Given the description of an element on the screen output the (x, y) to click on. 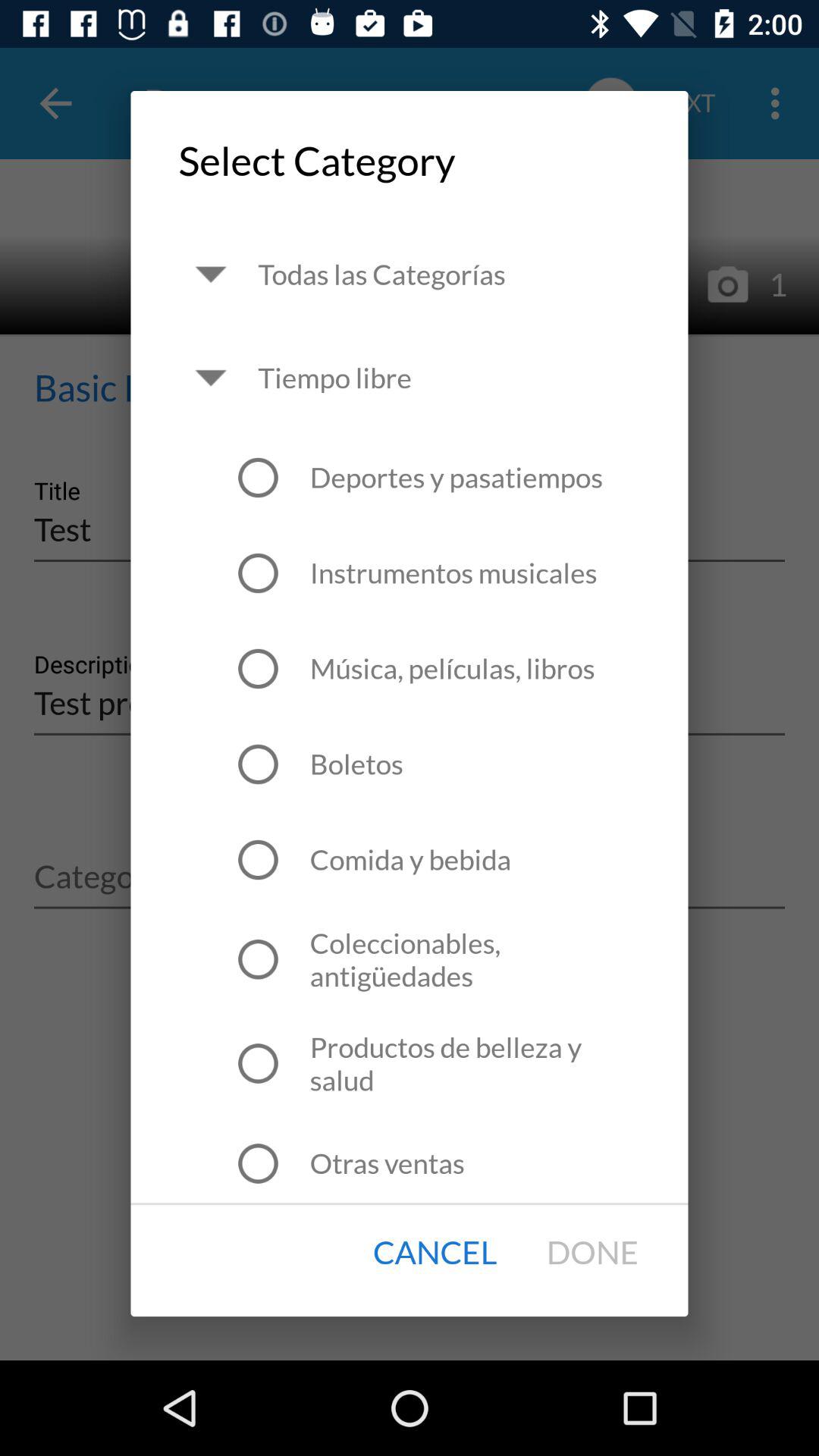
turn on icon above the otras ventas item (474, 1063)
